Given the description of an element on the screen output the (x, y) to click on. 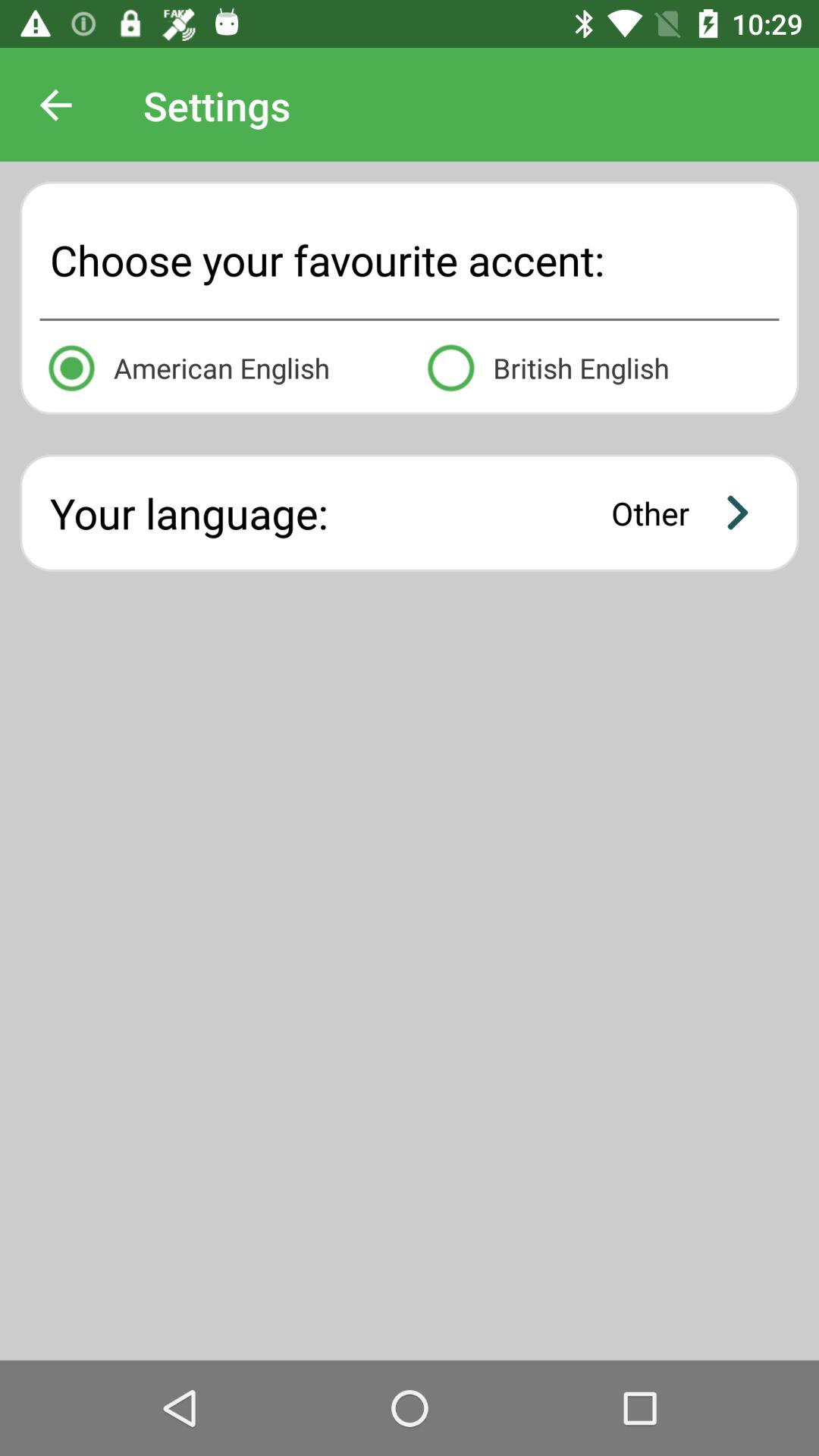
flip to the american english icon (219, 365)
